Given the description of an element on the screen output the (x, y) to click on. 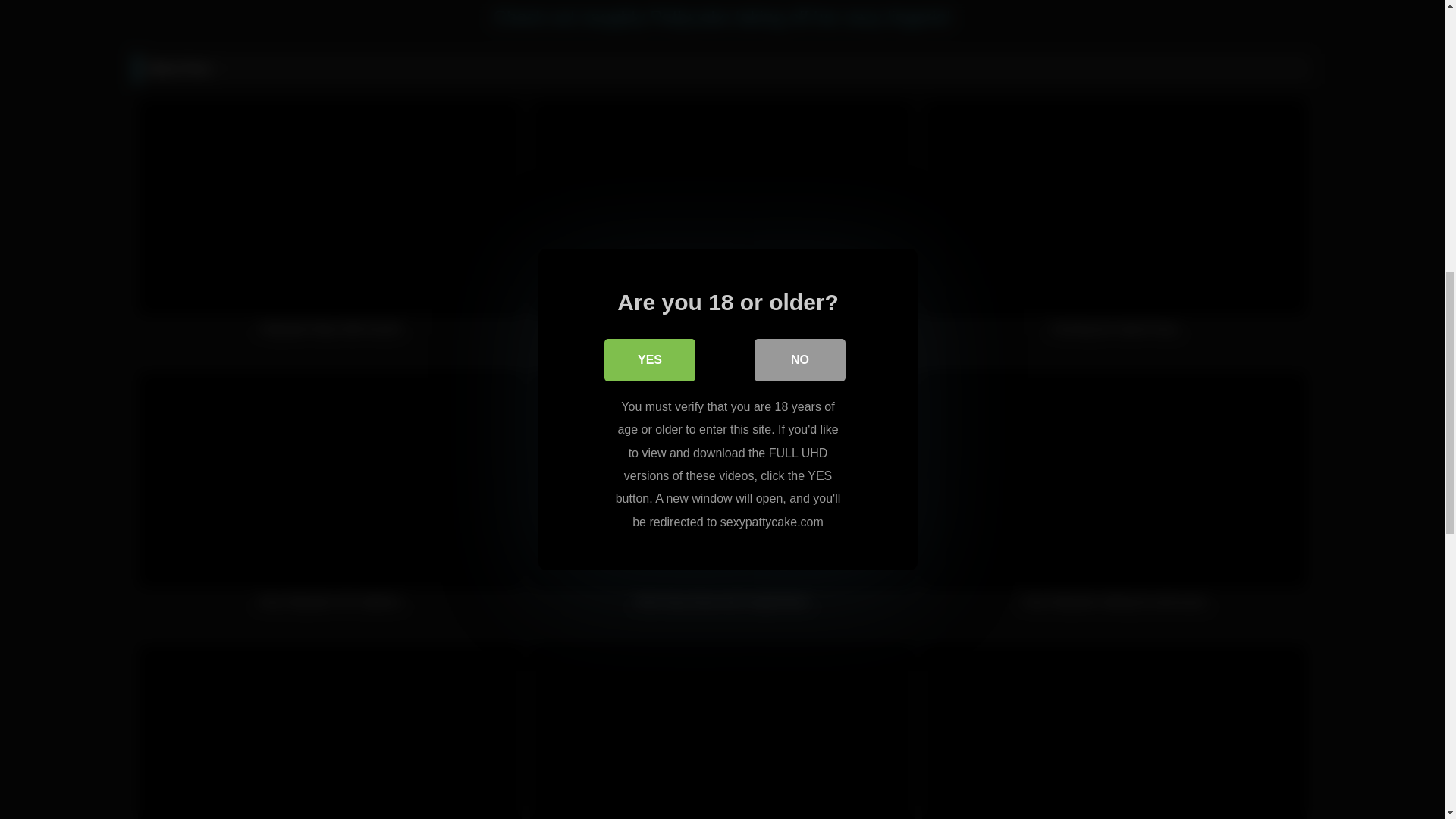
Pattycake Playin With Herself (330, 225)
Sexy Pattycake XXX Galleries (330, 497)
Naughty Gal Pattycake (721, 225)
Candy Stripper (1113, 731)
Short Sexy Dress And Cowgirl Boots (721, 497)
Touching Her Sweet Pussy (1113, 225)
Sexy Pattycake XXX Galleries (330, 497)
Check out naughty Pattycake taking off her sexy lingerie! (722, 16)
Sexy Pattycake Topless For You (330, 731)
Candy Stripper (1113, 731)
Touching Her Sweet Pussy (1113, 225)
Naughty Gal Pattycake (721, 225)
Pattycake Playin With Herself (330, 225)
Short Sexy Dress And Cowgirl Boots (721, 497)
Sexy Shower (721, 731)
